Given the description of an element on the screen output the (x, y) to click on. 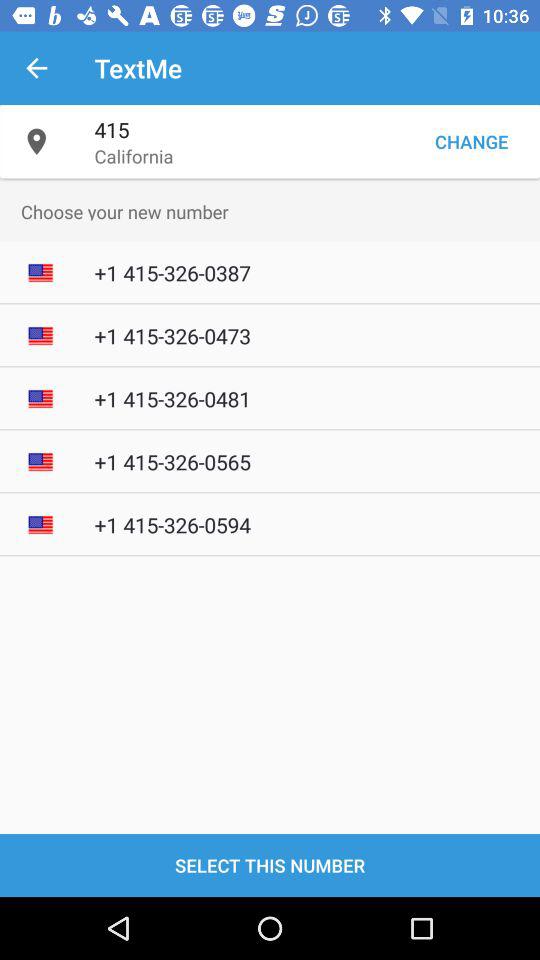
jump to the change (471, 141)
